Given the description of an element on the screen output the (x, y) to click on. 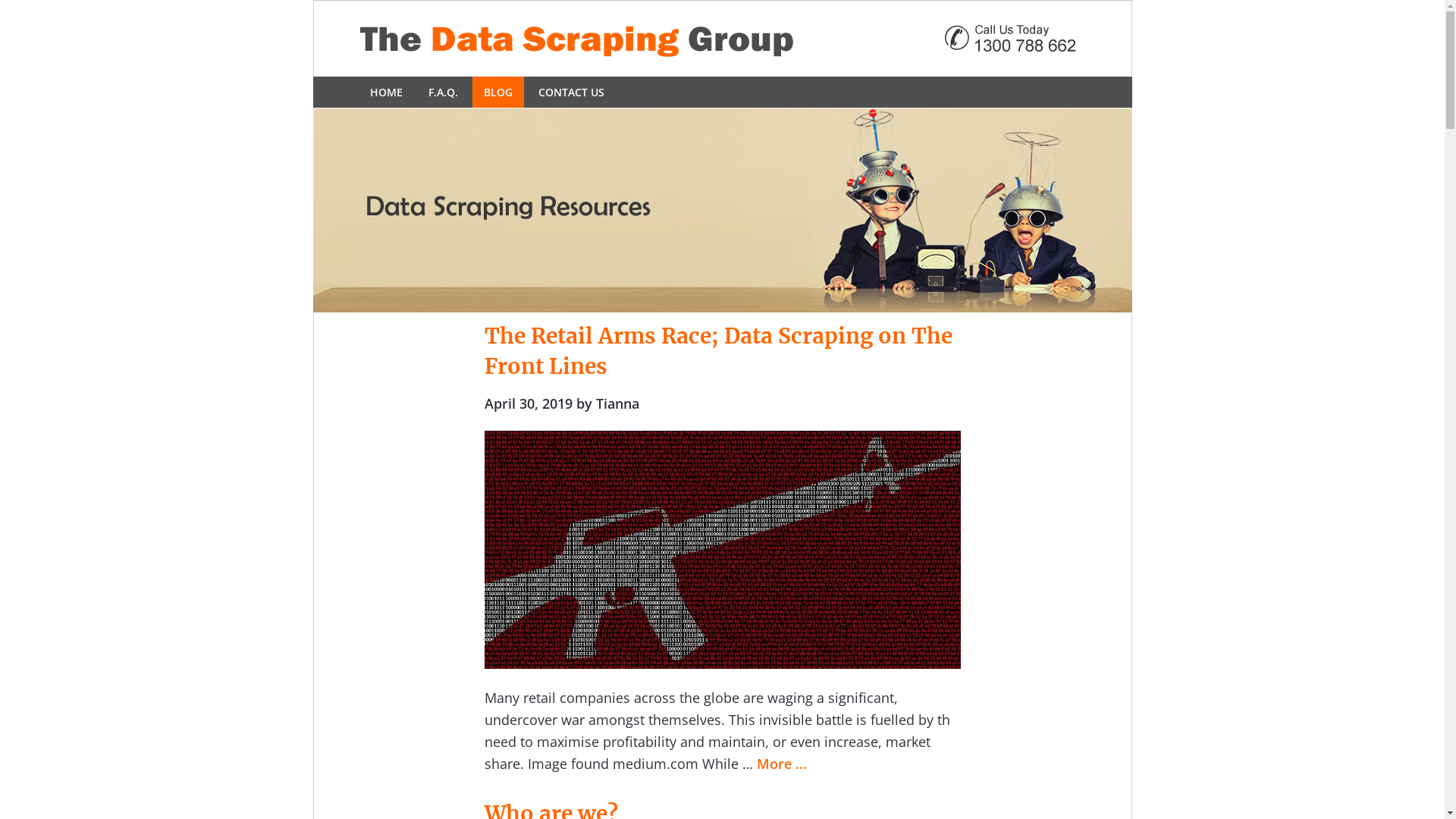
The Data Scraping Group Element type: hover (721, 37)
The Retail Arms Race; Data Scraping on The Front Lines Element type: text (717, 350)
HOME Element type: text (385, 91)
CONTACT US Element type: text (570, 91)
More ... Element type: text (781, 762)
BLOG Element type: text (497, 91)
F.A.Q. Element type: text (443, 91)
The Data Scraping Group Element type: hover (721, 209)
